Given the description of an element on the screen output the (x, y) to click on. 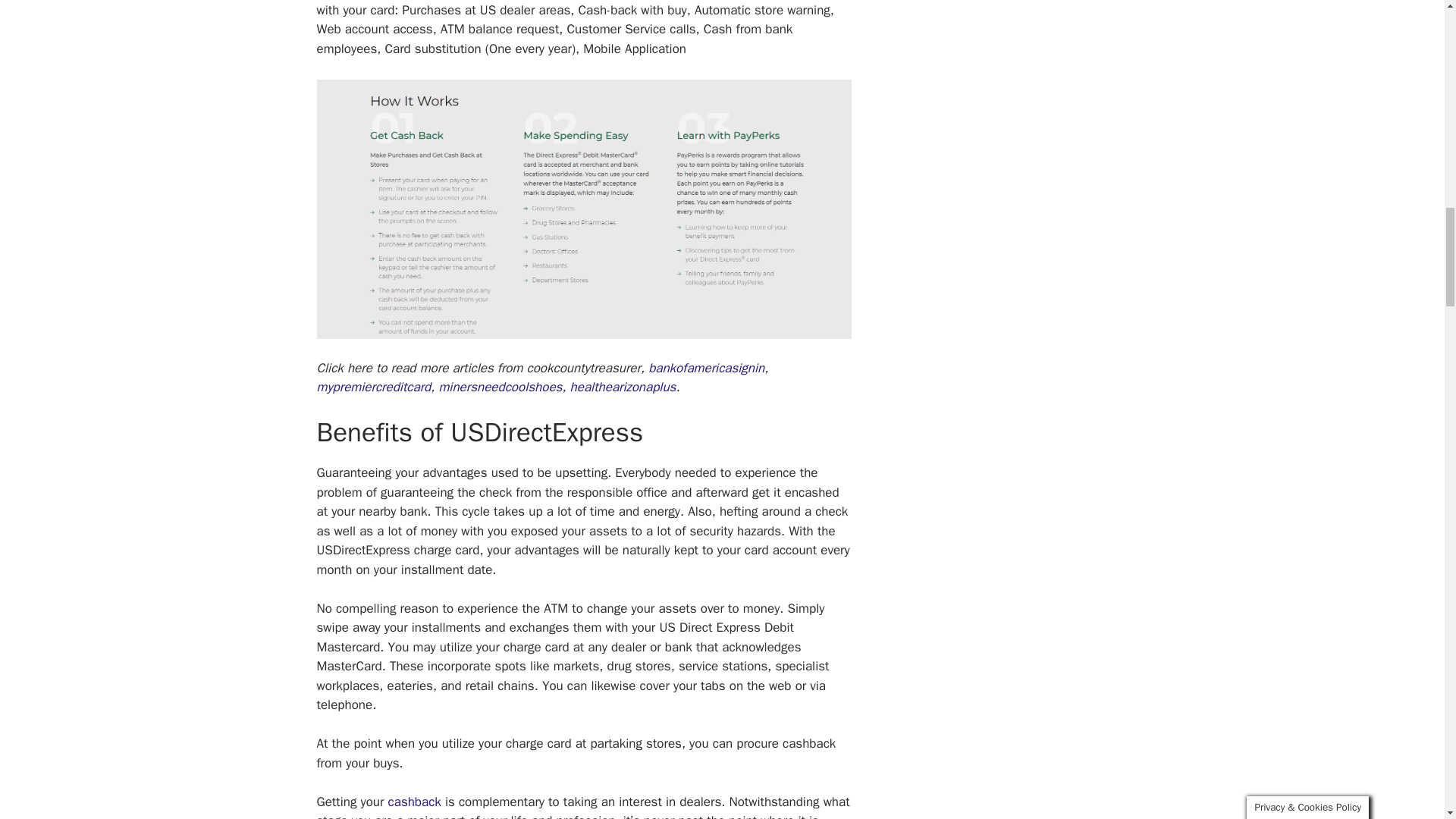
bankofamericasignin (705, 367)
cashback (414, 801)
mypremiercreditcard (373, 386)
healthearizonaplus (623, 386)
minersneedcoolshoes (500, 386)
